Given the description of an element on the screen output the (x, y) to click on. 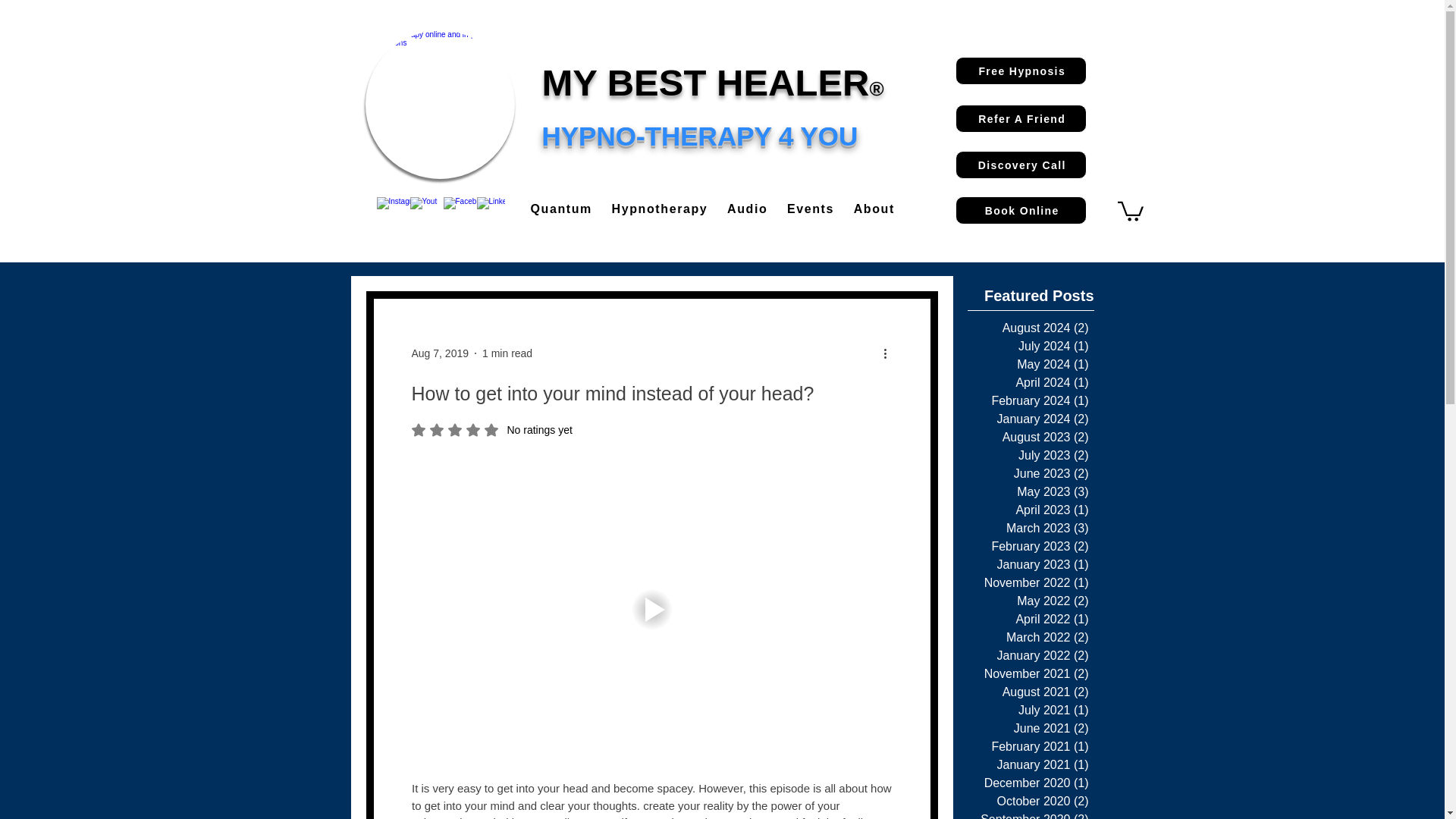
Quantum (571, 208)
Aug 7, 2019 (439, 353)
Free Hypnosis (1020, 70)
Events (820, 208)
1 min read (506, 353)
Hypnotherapy and Reiki Certifications (440, 104)
Book Online (491, 429)
About (1020, 210)
Hypnotherapy (883, 208)
